Given the description of an element on the screen output the (x, y) to click on. 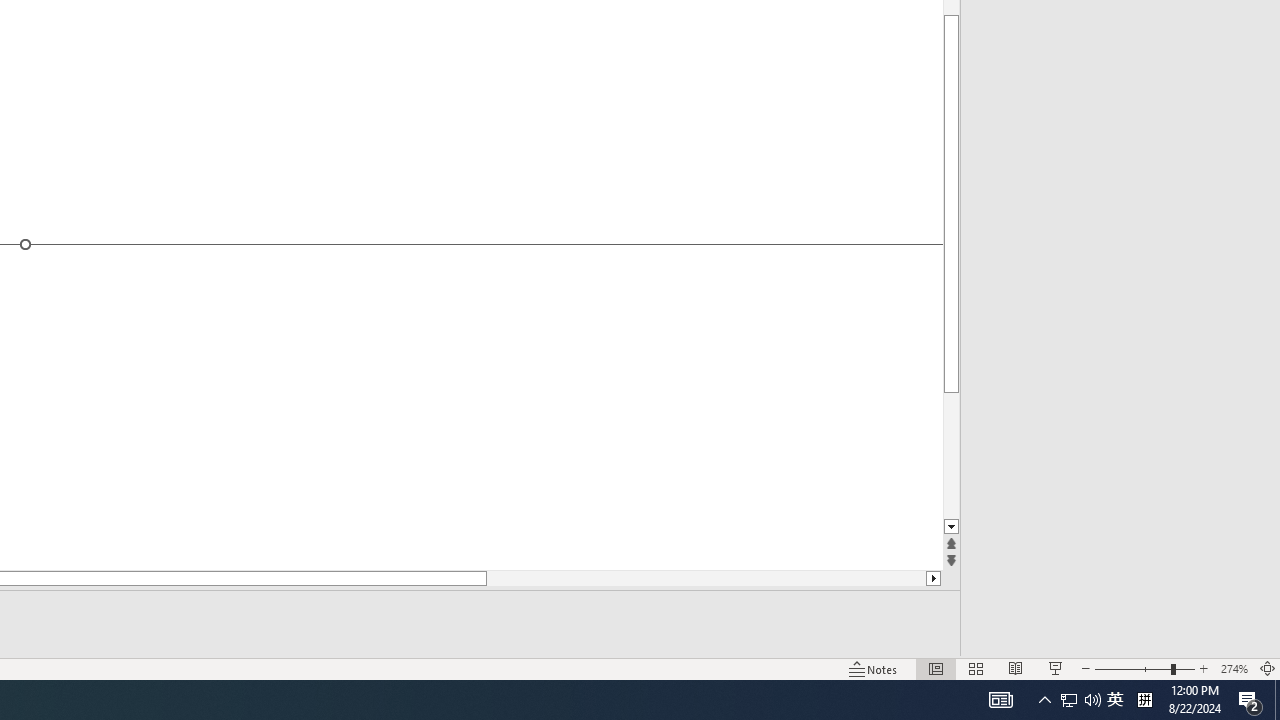
Zoom 274% (1234, 668)
